Given the description of an element on the screen output the (x, y) to click on. 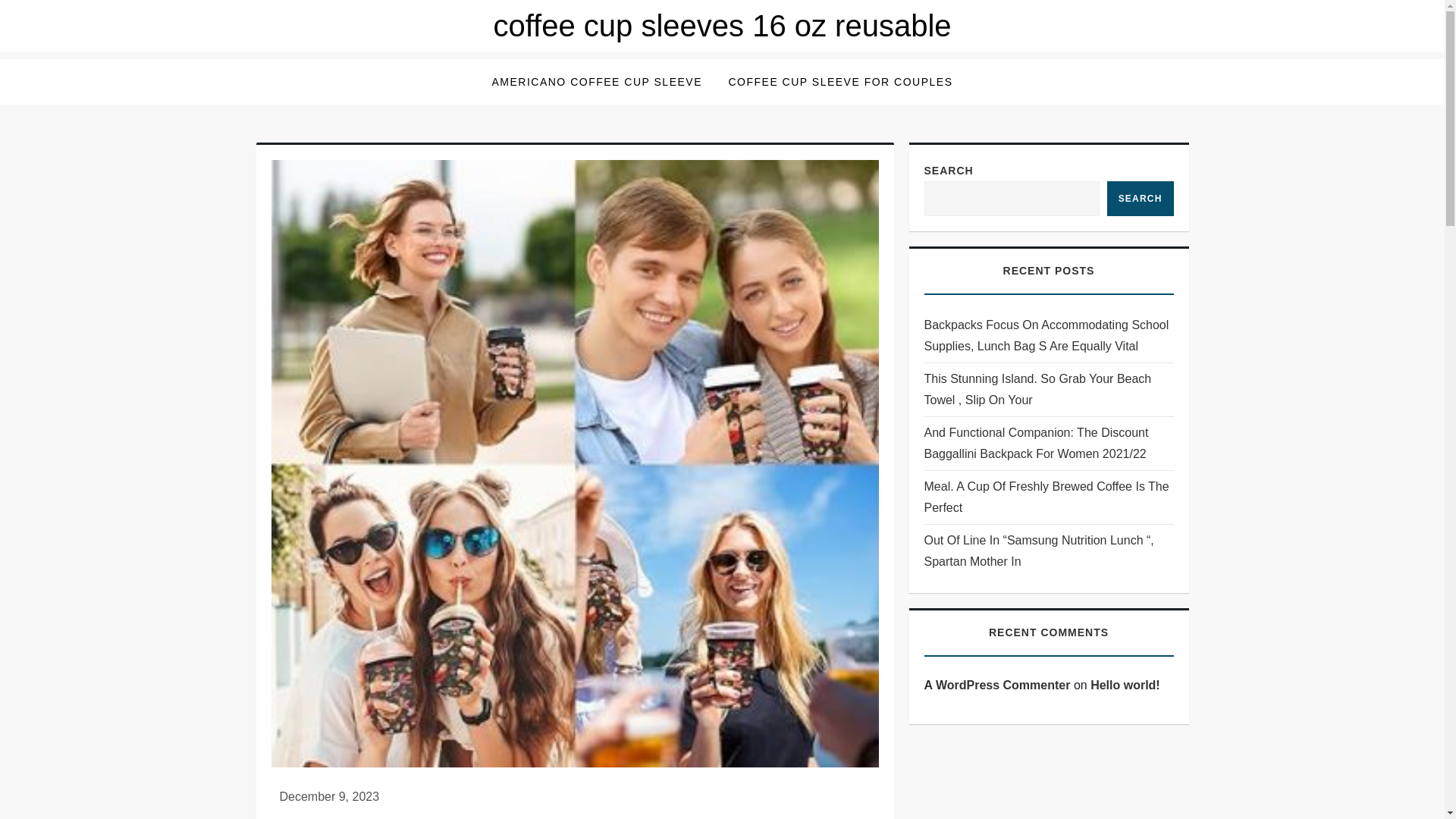
Meal. A Cup Of Freshly Brewed Coffee Is The Perfect (1048, 496)
Hello world! (1125, 684)
SEARCH (1139, 198)
coffee cup sleeves 16 oz reusable (721, 25)
A WordPress Commenter (996, 684)
AMERICANO COFFEE CUP SLEEVE (596, 81)
COFFEE CUP SLEEVE FOR COUPLES (839, 81)
December 9, 2023 (328, 796)
